Given the description of an element on the screen output the (x, y) to click on. 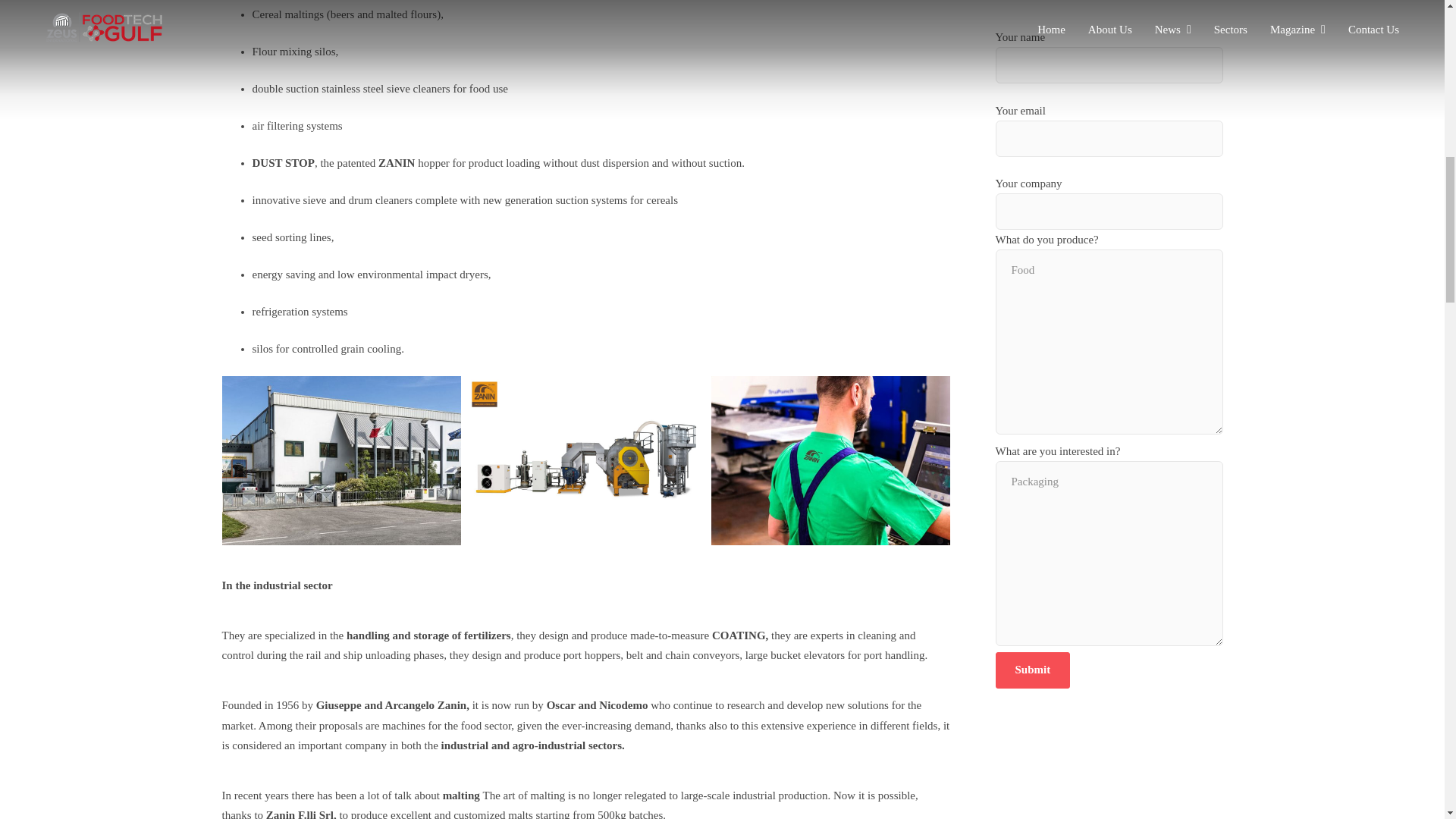
Zanin F.lli Srl (299, 814)
Submit (1032, 669)
